Given the description of an element on the screen output the (x, y) to click on. 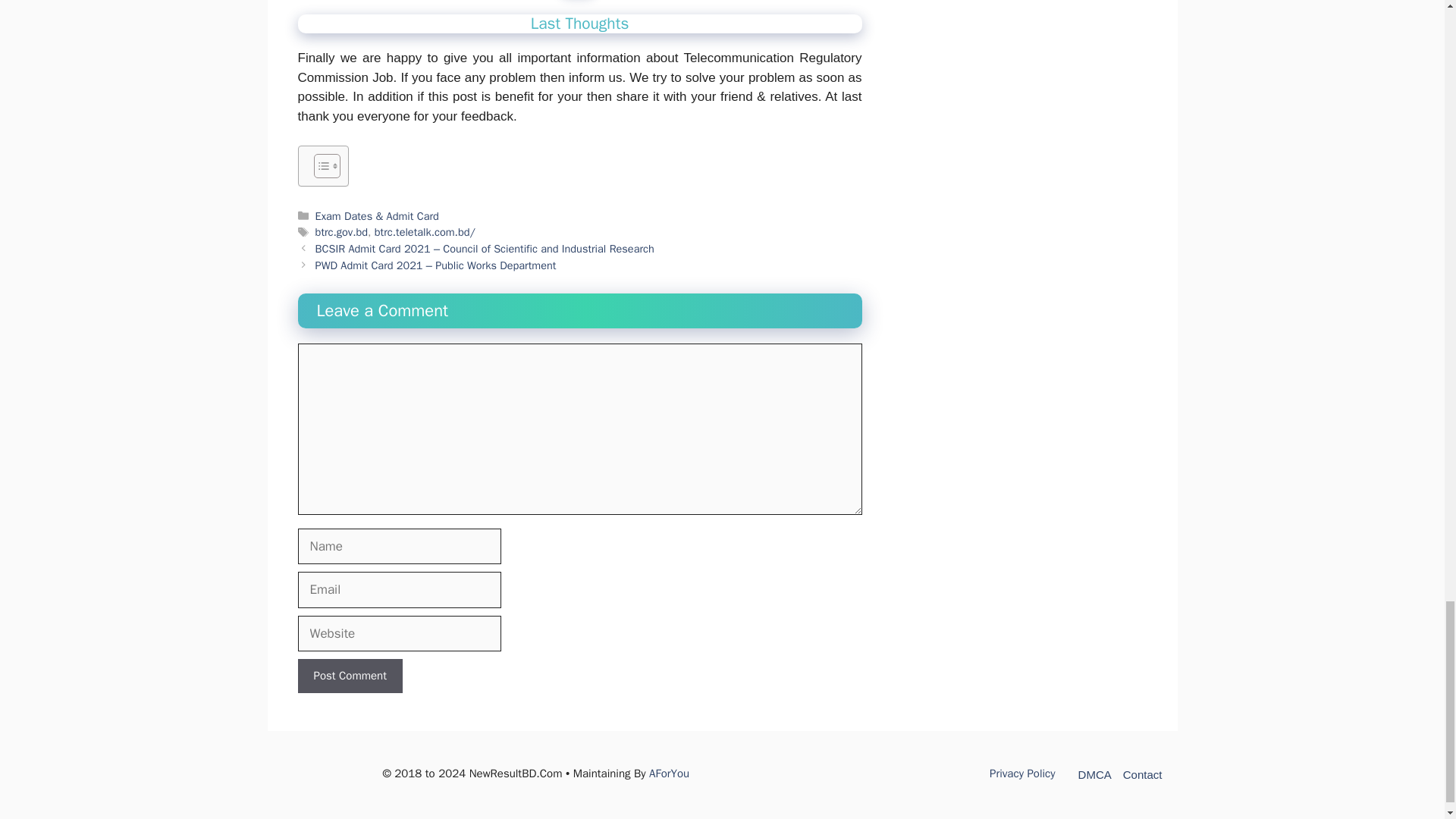
Post Comment (349, 675)
Post Comment (349, 675)
btrc.gov.bd (341, 232)
